Given the description of an element on the screen output the (x, y) to click on. 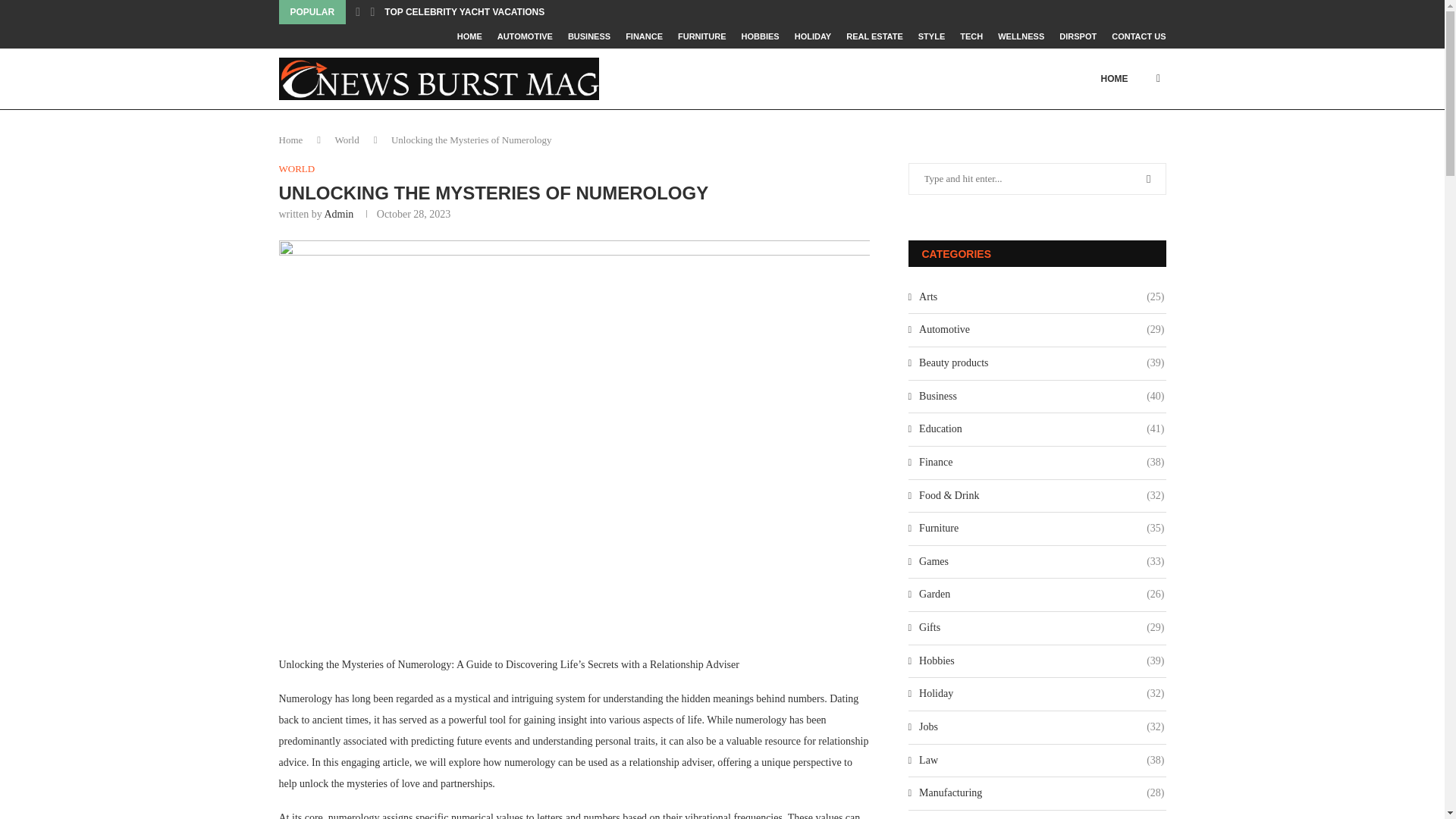
HOLIDAY (812, 36)
HOME (469, 36)
TOP CELEBRITY YACHT VACATIONS (464, 12)
Home (290, 139)
AUTOMOTIVE (525, 36)
DIRSPOT (1077, 36)
FINANCE (644, 36)
WORLD (297, 168)
TECH (970, 36)
WELLNESS (1020, 36)
STYLE (931, 36)
World (346, 139)
REAL ESTATE (873, 36)
FURNITURE (702, 36)
